Given the description of an element on the screen output the (x, y) to click on. 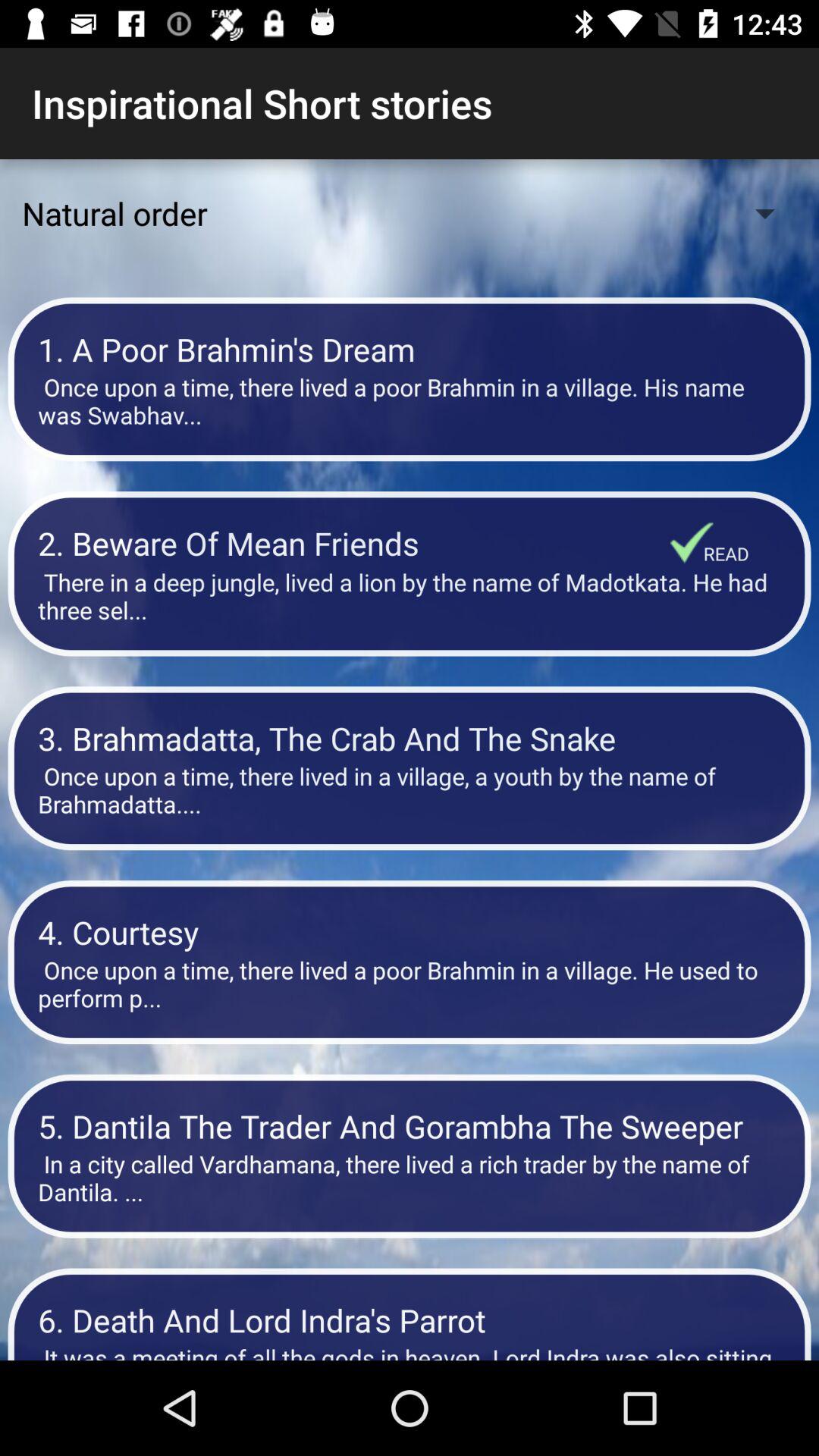
choose icon below in a city icon (409, 1319)
